Given the description of an element on the screen output the (x, y) to click on. 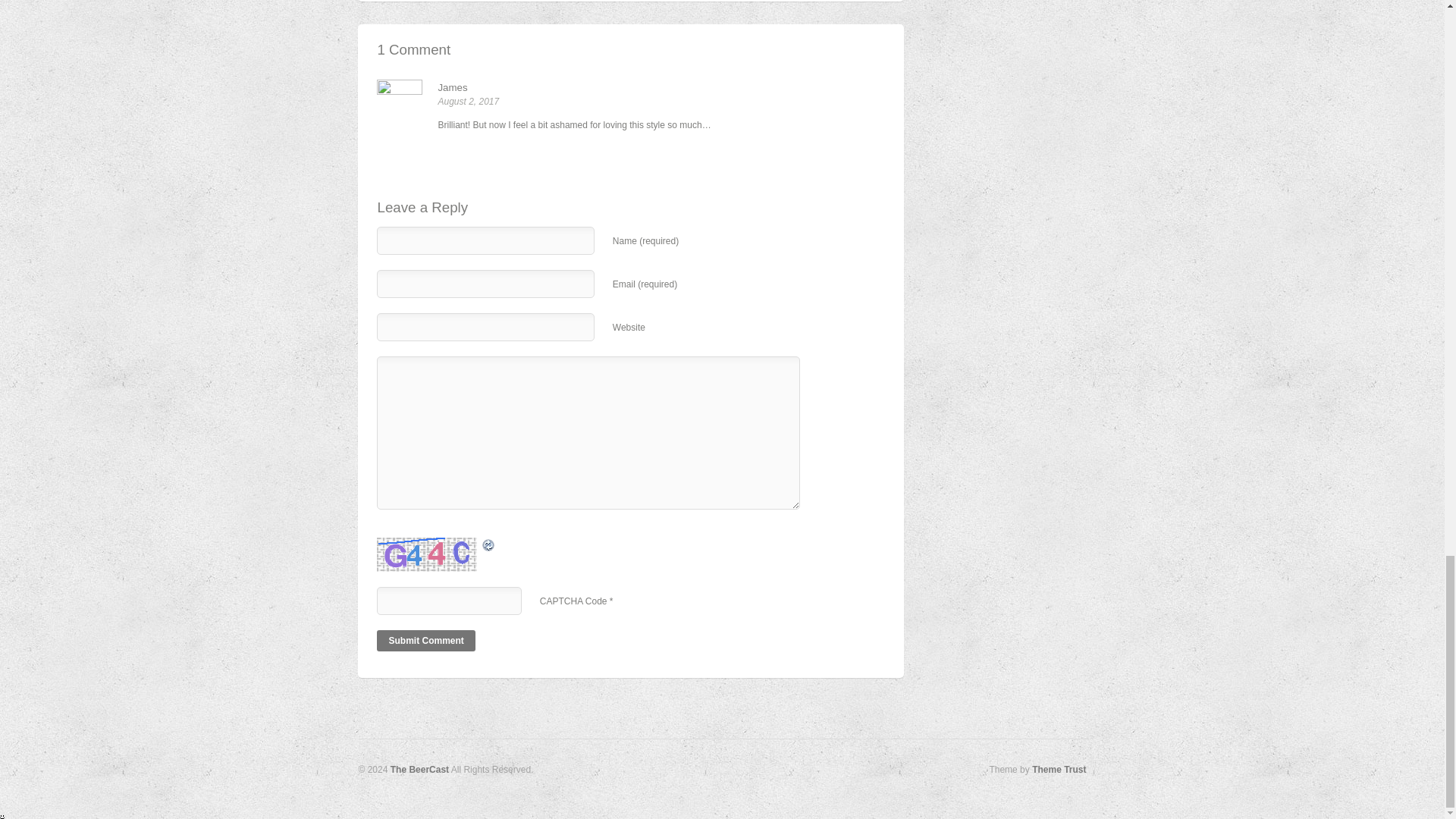
Submit Comment (425, 640)
The BeerCast (419, 769)
Theme Trust (1059, 769)
CAPTCHA (428, 554)
Refresh (443, 544)
Submit Comment (425, 640)
Theme Trust (1059, 769)
